Given the description of an element on the screen output the (x, y) to click on. 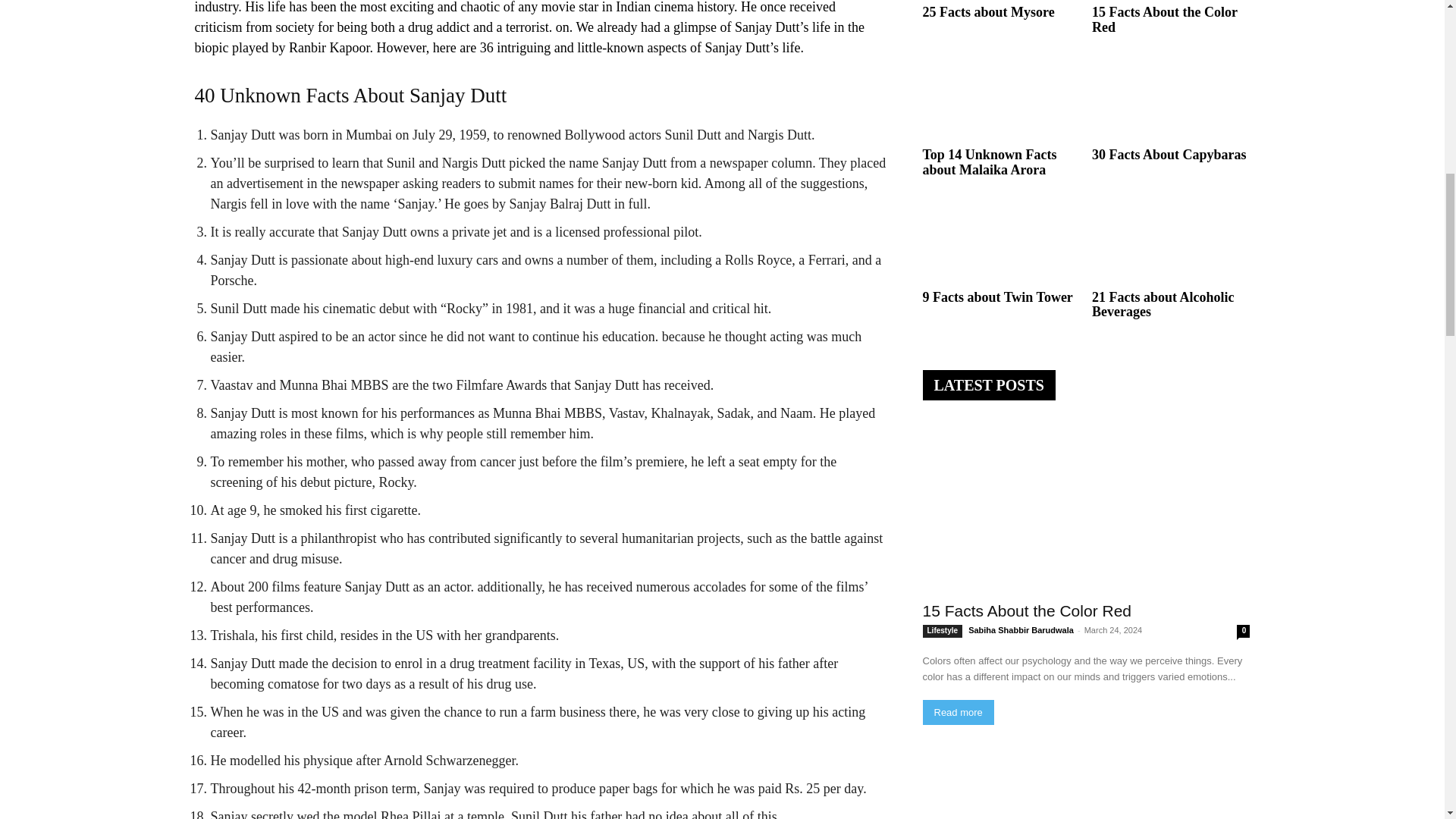
Top 14 Unknown Facts about Malaika Arora (1000, 98)
15 Facts About the Color Red (1164, 19)
25 Facts about Mysore (987, 11)
25 Facts about Mysore (987, 11)
